Given the description of an element on the screen output the (x, y) to click on. 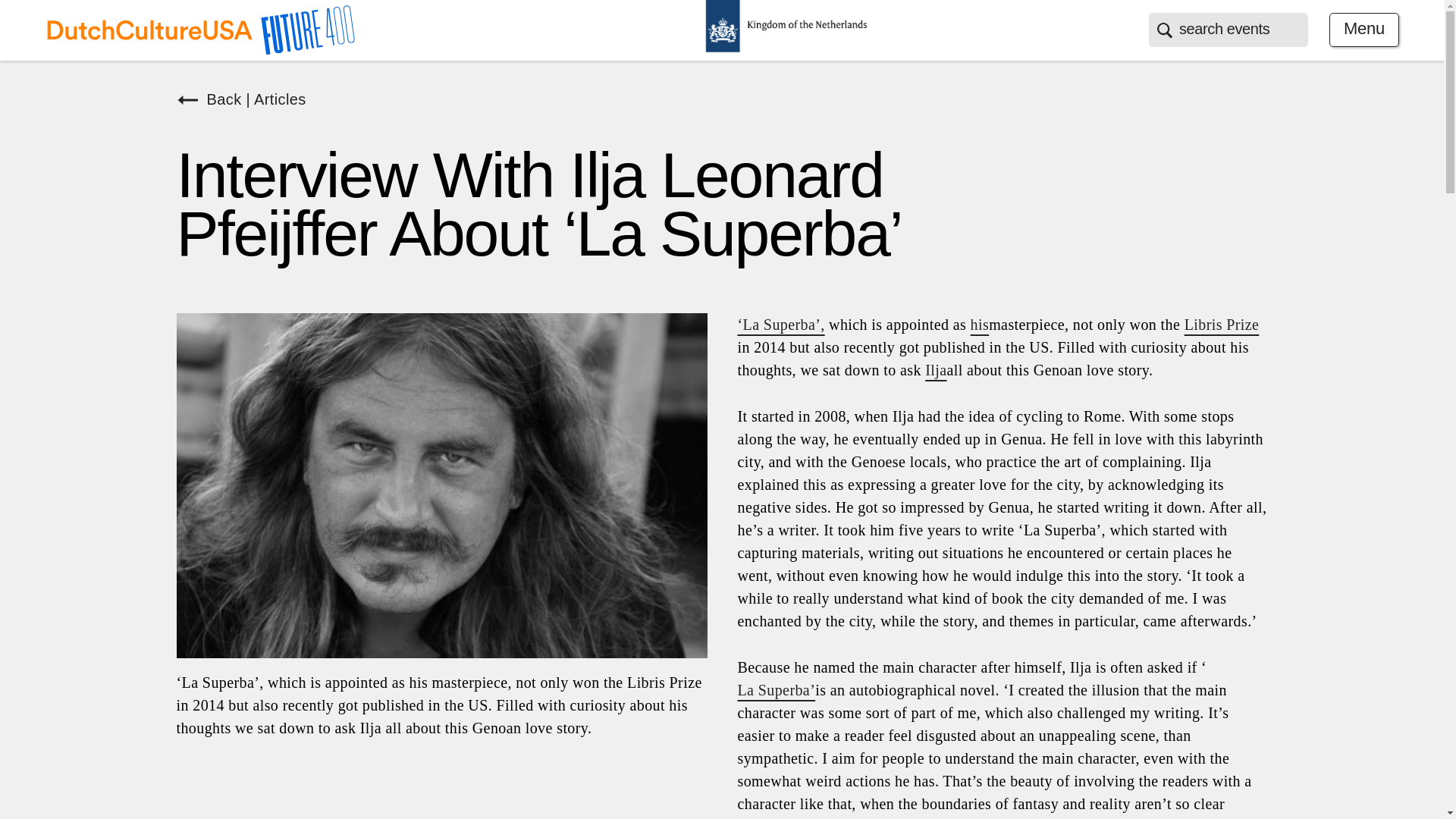
Go (11, 6)
Ilja (935, 369)
Libris Prize (1222, 323)
